Given the description of an element on the screen output the (x, y) to click on. 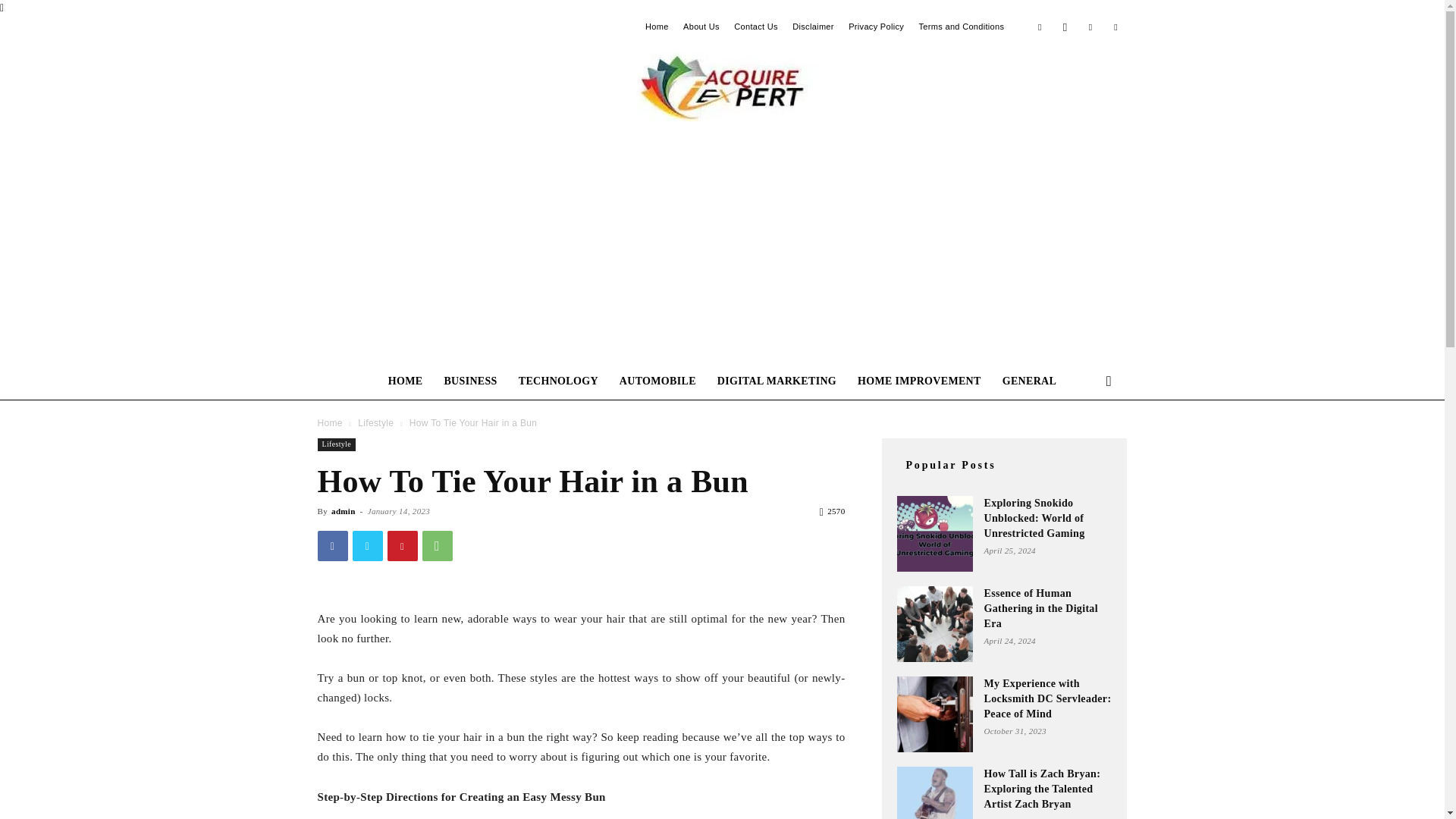
HOME (405, 381)
View all posts in Lifestyle (375, 422)
admin (343, 510)
Facebook (332, 545)
Privacy Policy (876, 26)
Disclaimer (813, 26)
Pinterest (1090, 25)
Contact Us (755, 26)
Instagram (1065, 25)
Lifestyle (375, 422)
Twitter (366, 545)
HOME IMPROVEMENT (919, 381)
Search (1085, 441)
Pinterest (401, 545)
